Given the description of an element on the screen output the (x, y) to click on. 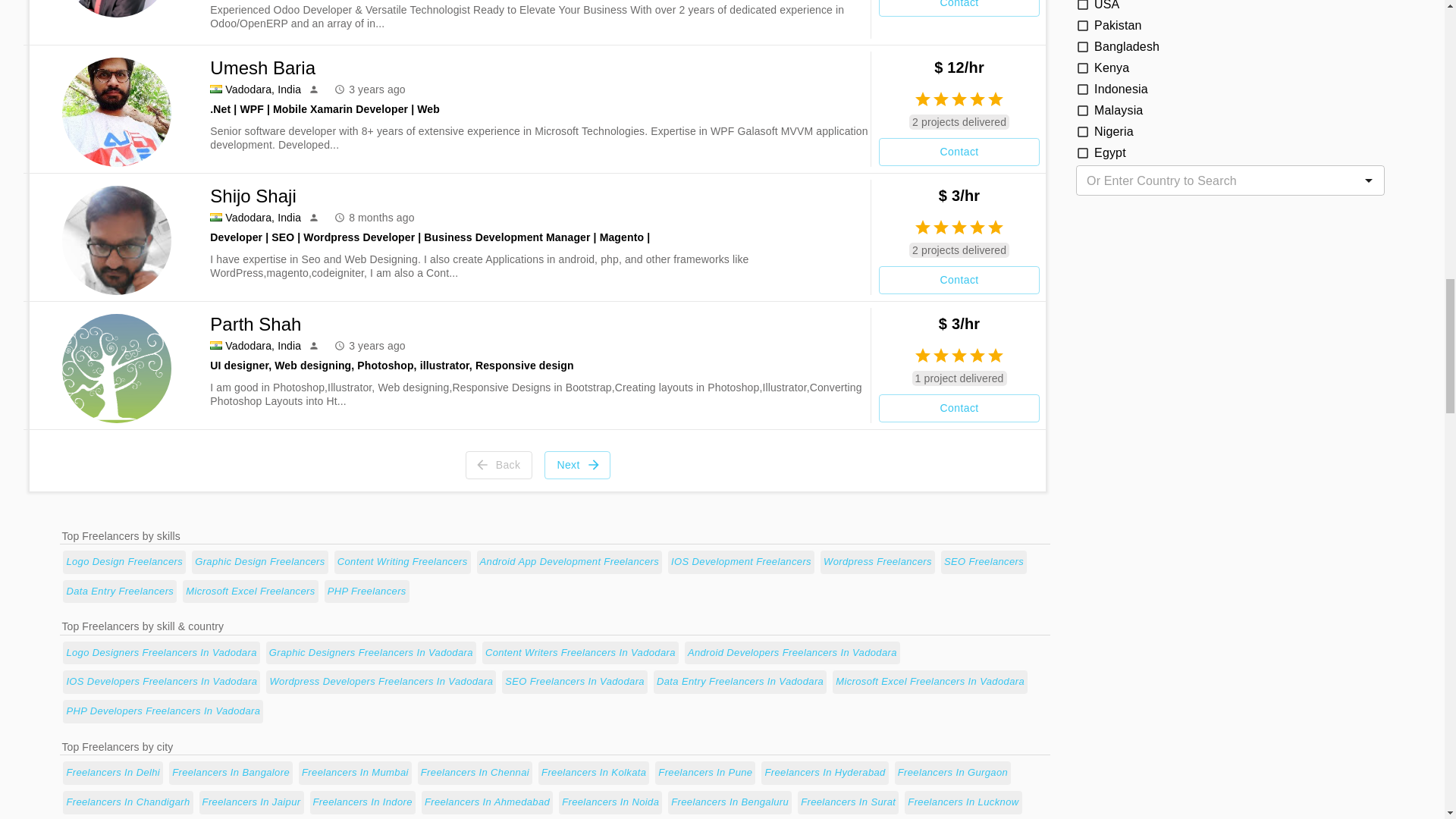
India (215, 89)
Open (1368, 179)
India (215, 216)
India (215, 345)
